Given the description of an element on the screen output the (x, y) to click on. 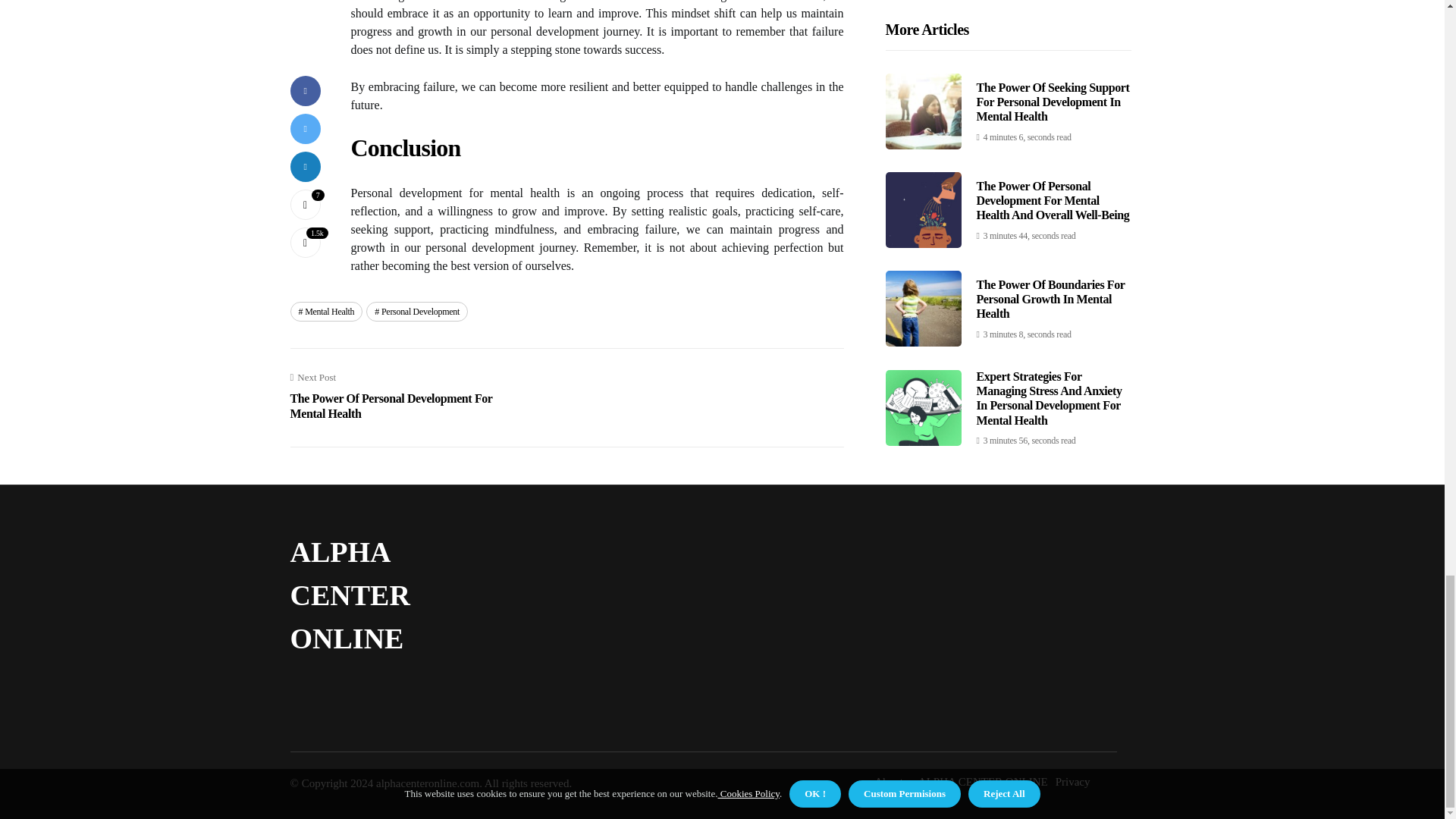
Mental Health (325, 311)
Personal Development (416, 311)
